Given the description of an element on the screen output the (x, y) to click on. 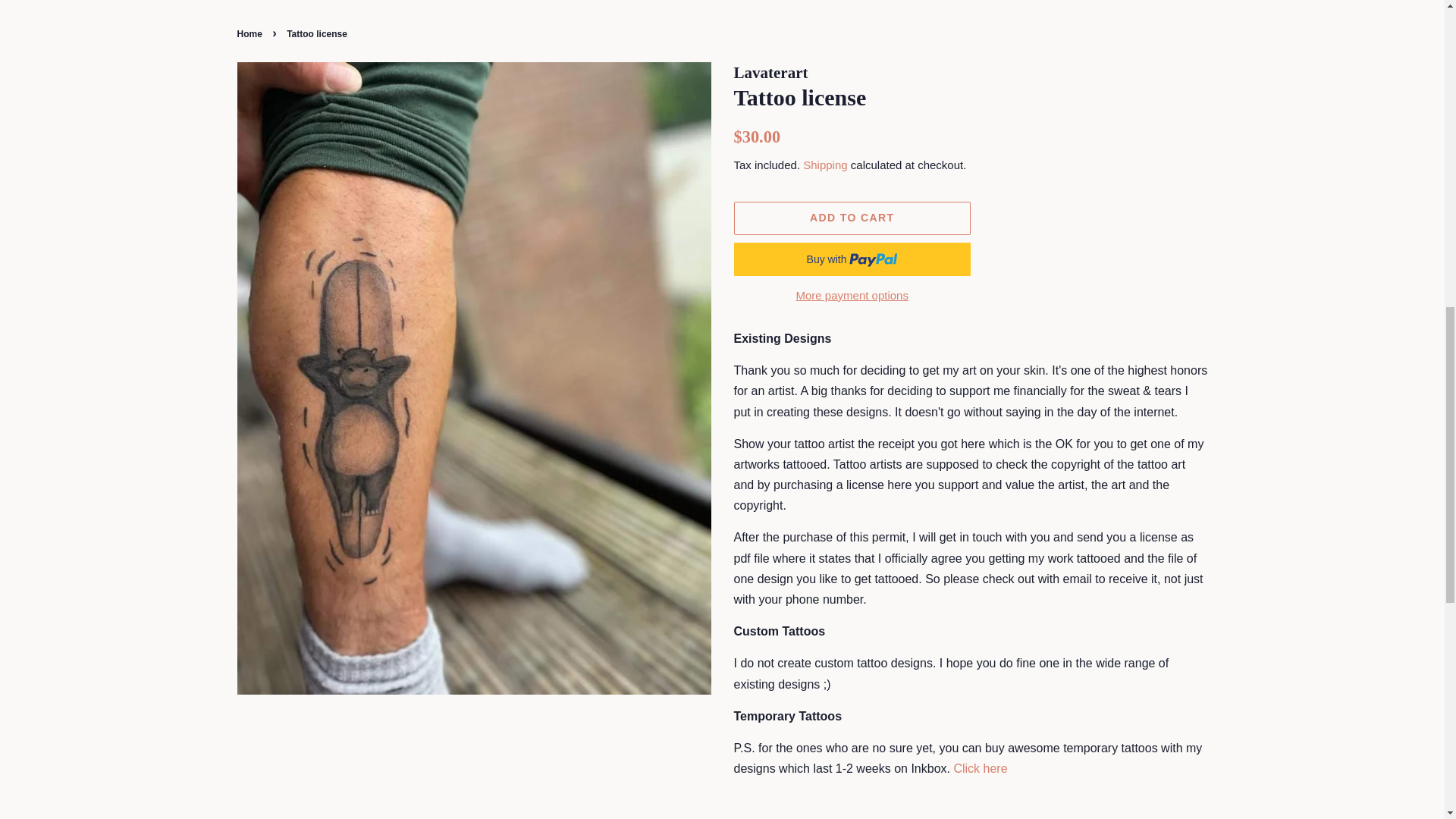
More payment options (852, 294)
ADD TO CART (852, 218)
Home (249, 33)
Back to the frontpage (249, 33)
Shipping (825, 164)
